Given the description of an element on the screen output the (x, y) to click on. 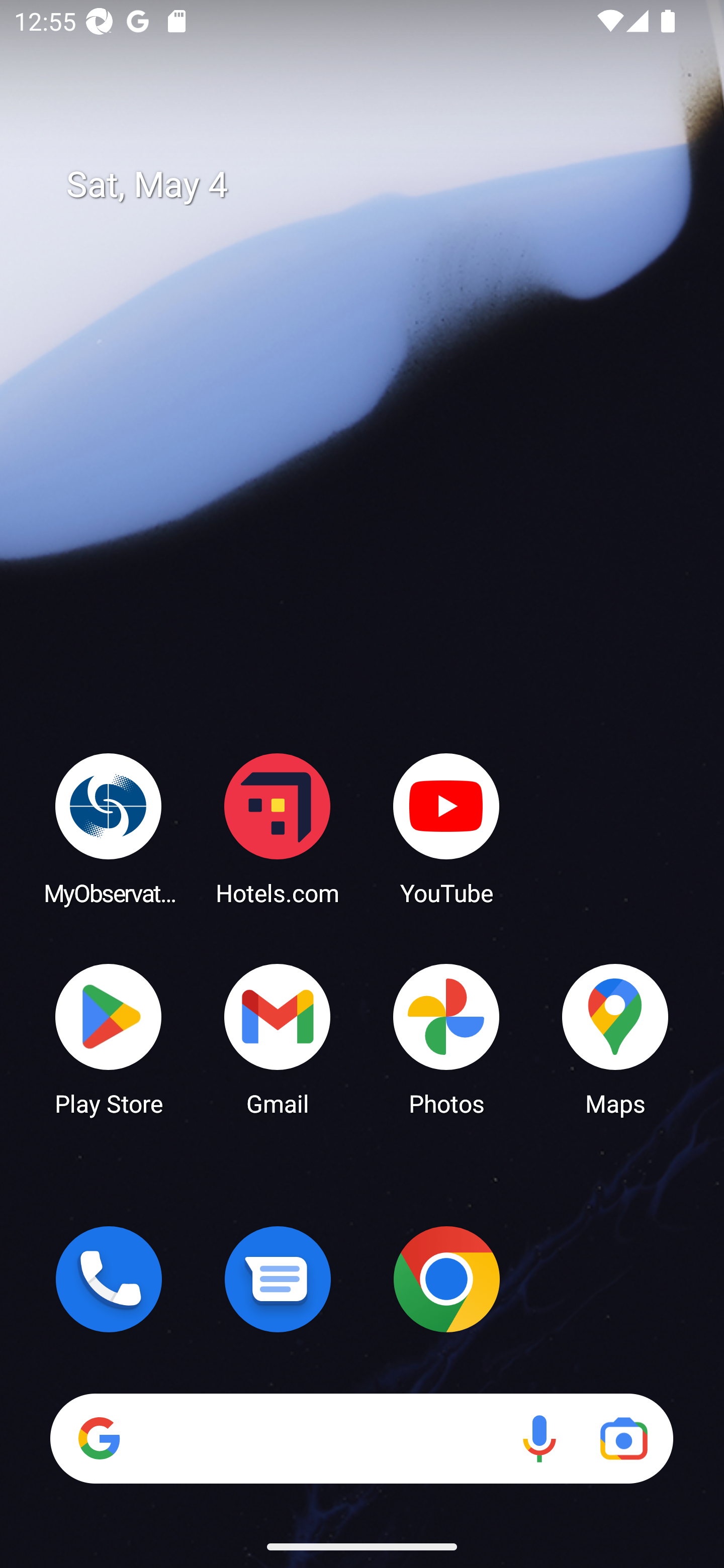
Sat, May 4 (375, 184)
MyObservatory (108, 828)
Hotels.com (277, 828)
YouTube (445, 828)
Play Store (108, 1038)
Gmail (277, 1038)
Photos (445, 1038)
Maps (615, 1038)
Phone (108, 1279)
Messages (277, 1279)
Chrome (446, 1279)
Search Voice search Google Lens (361, 1438)
Voice search (539, 1438)
Google Lens (623, 1438)
